Given the description of an element on the screen output the (x, y) to click on. 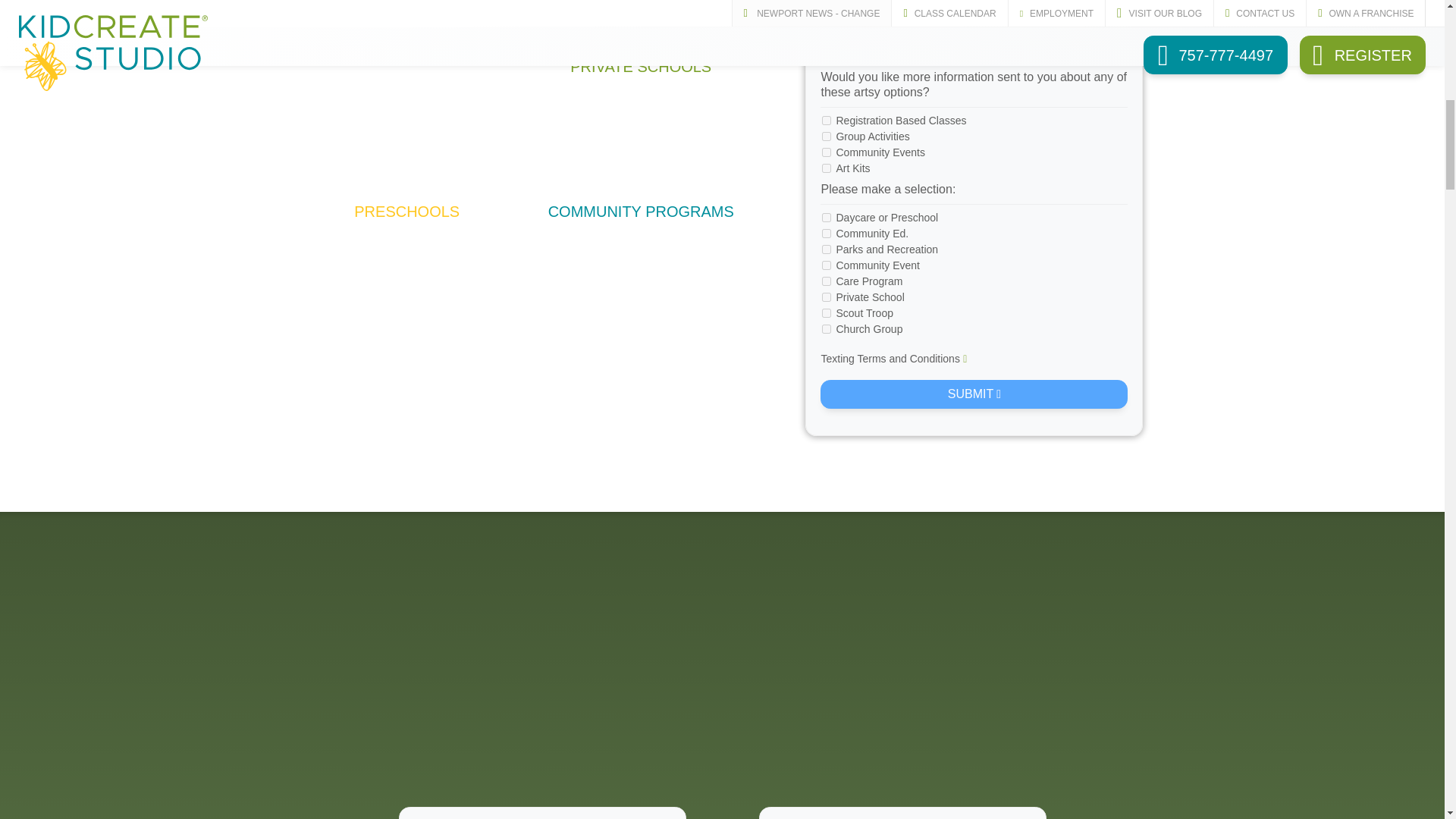
Care Program (826, 280)
Scout Troop (826, 312)
Mobile Studio for Kids Parties (406, 145)
Group Activities (826, 135)
Community Events (826, 152)
Art Kits (826, 167)
Newport News Mobile Art Classes (406, 17)
Church Group (826, 328)
Mobile Art Studio Kids Parties (641, 16)
Registration Based Classes (826, 120)
Daycare or Preschool  (826, 216)
Group Activities (826, 135)
Community Ed. (826, 233)
Registration Based Classes (826, 120)
Community Events (826, 152)
